Given the description of an element on the screen output the (x, y) to click on. 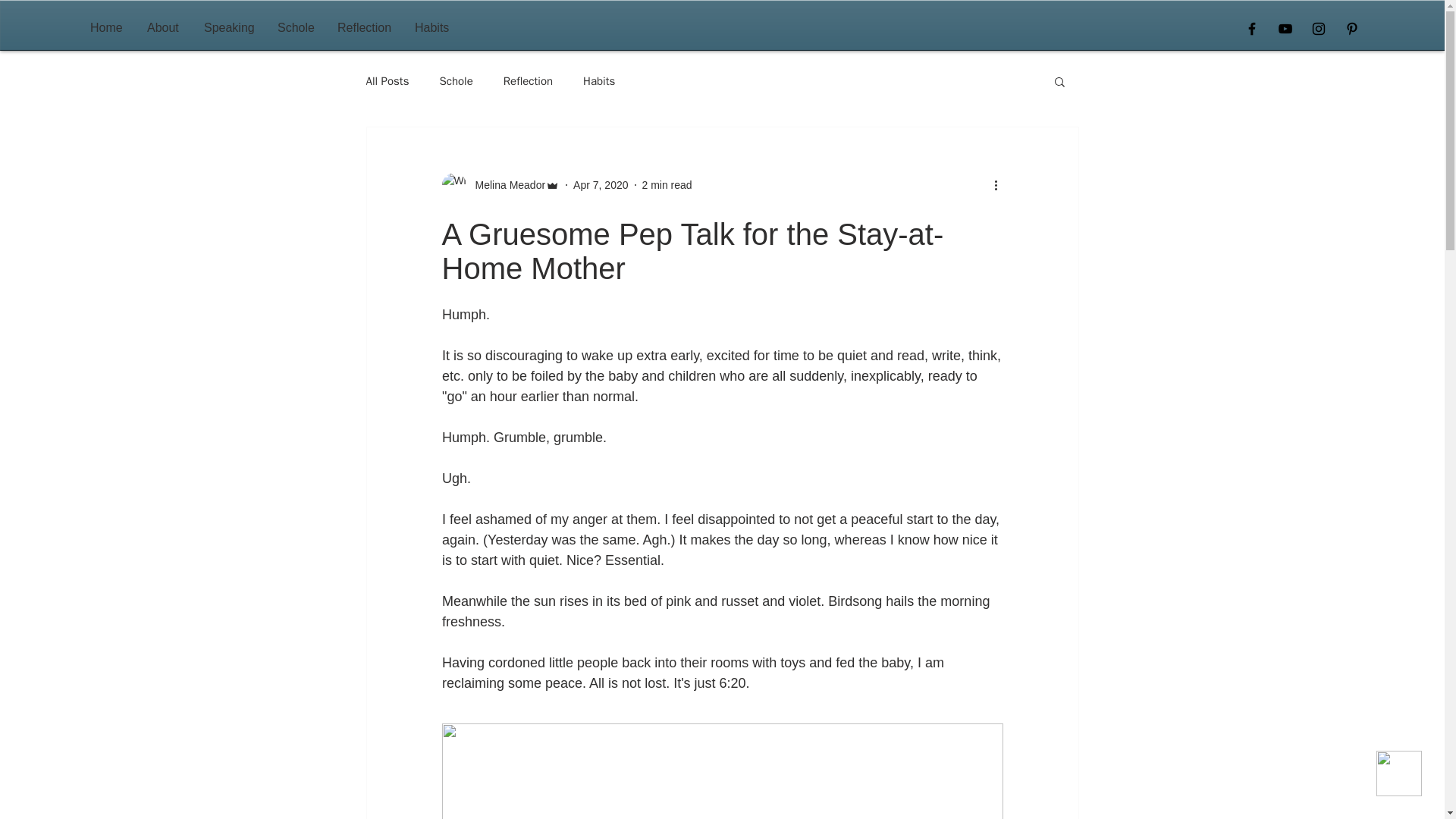
Reflection (528, 81)
Home (106, 27)
Habits (432, 27)
All Posts (387, 81)
Speaking (229, 27)
Schole (455, 81)
Apr 7, 2020 (600, 184)
Habits (598, 81)
2 min read (666, 184)
Melina Meador (504, 185)
